Given the description of an element on the screen output the (x, y) to click on. 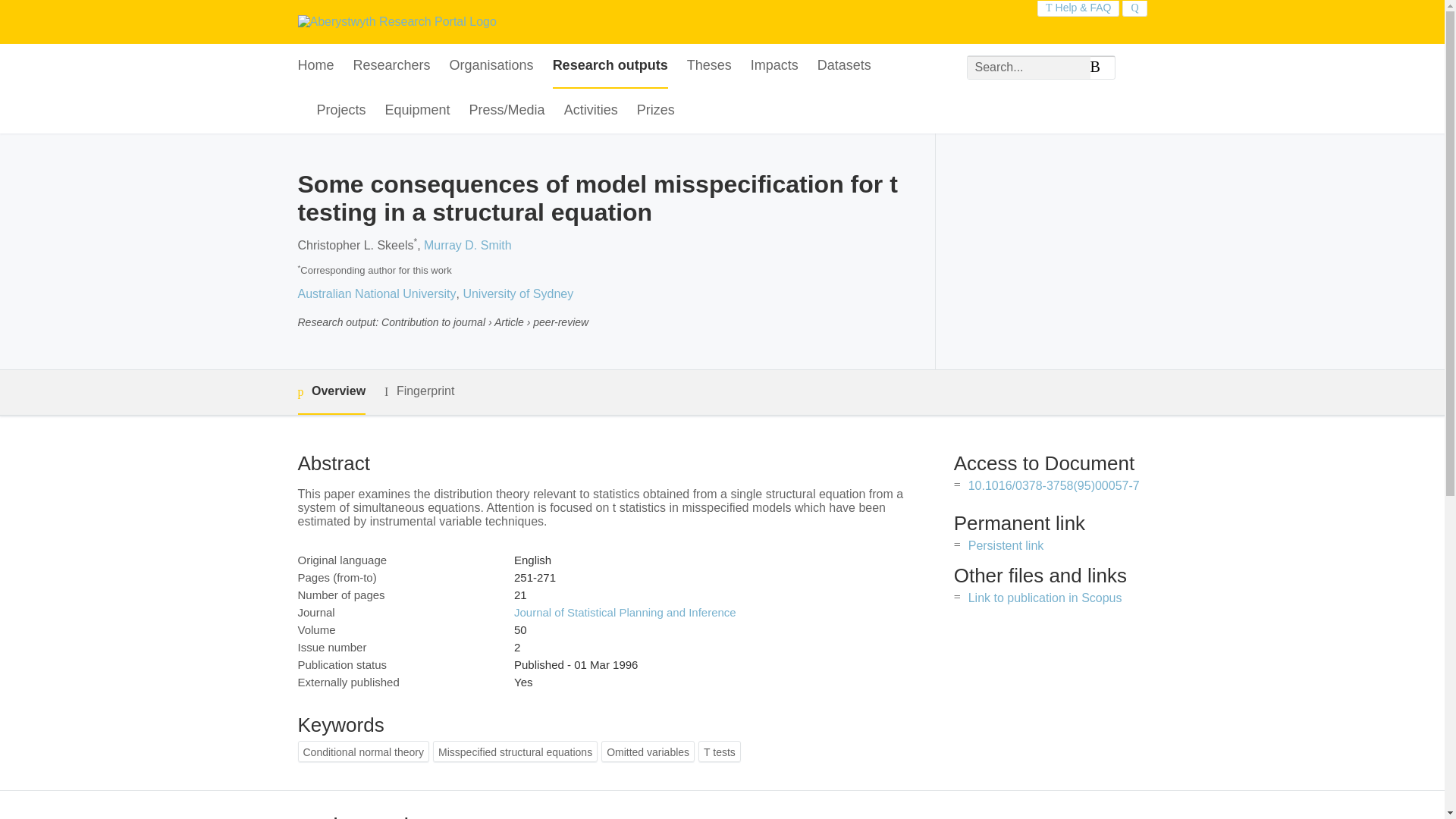
Persistent link (1005, 545)
Australian National University (376, 293)
Murray D. Smith (467, 245)
Fingerprint (419, 391)
Overview (331, 392)
Equipment (417, 110)
Research outputs (610, 66)
Activities (590, 110)
Aberystwyth Research Portal Home (396, 21)
